Given the description of an element on the screen output the (x, y) to click on. 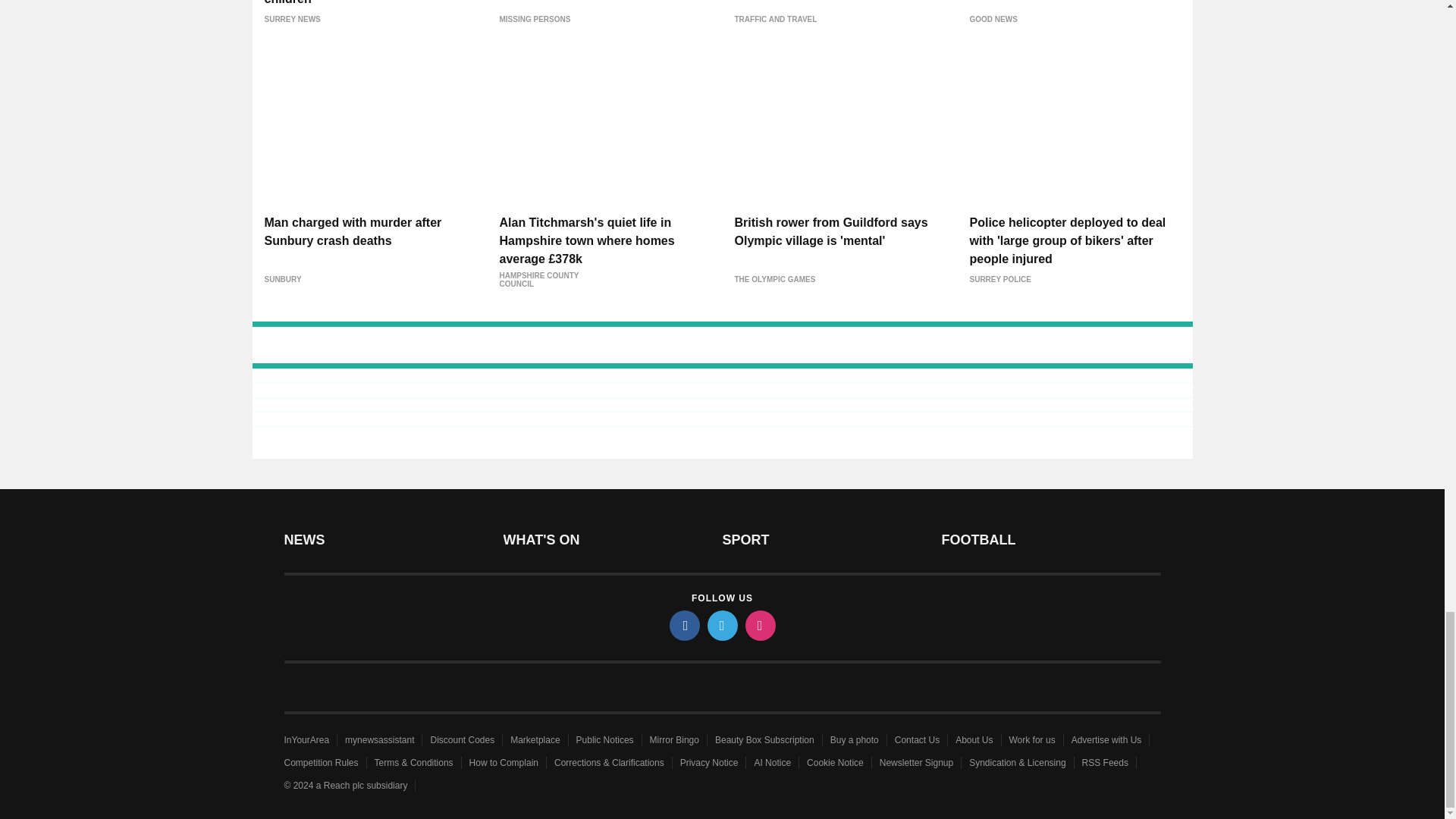
facebook (683, 625)
instagram (759, 625)
twitter (721, 625)
